Given the description of an element on the screen output the (x, y) to click on. 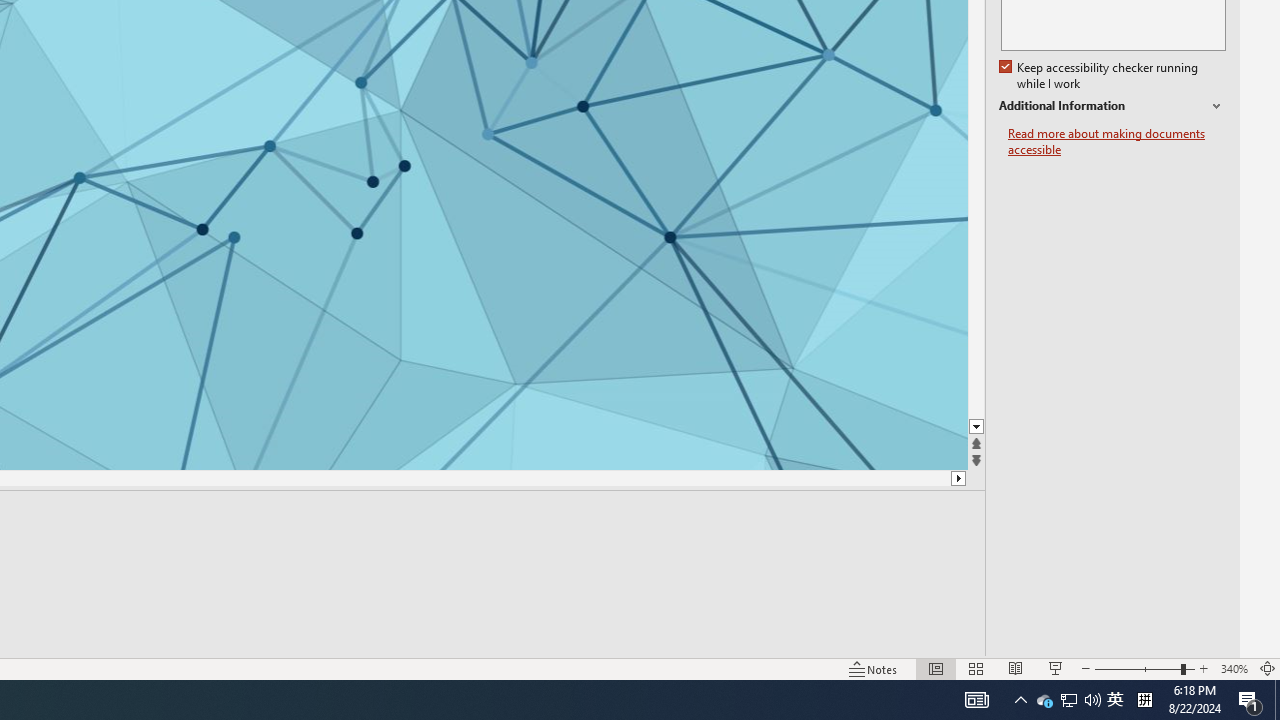
Keep accessibility checker running while I work (1099, 76)
Zoom 340% (1234, 668)
Read more about making documents accessible (1117, 142)
Additional Information (1112, 106)
